Given the description of an element on the screen output the (x, y) to click on. 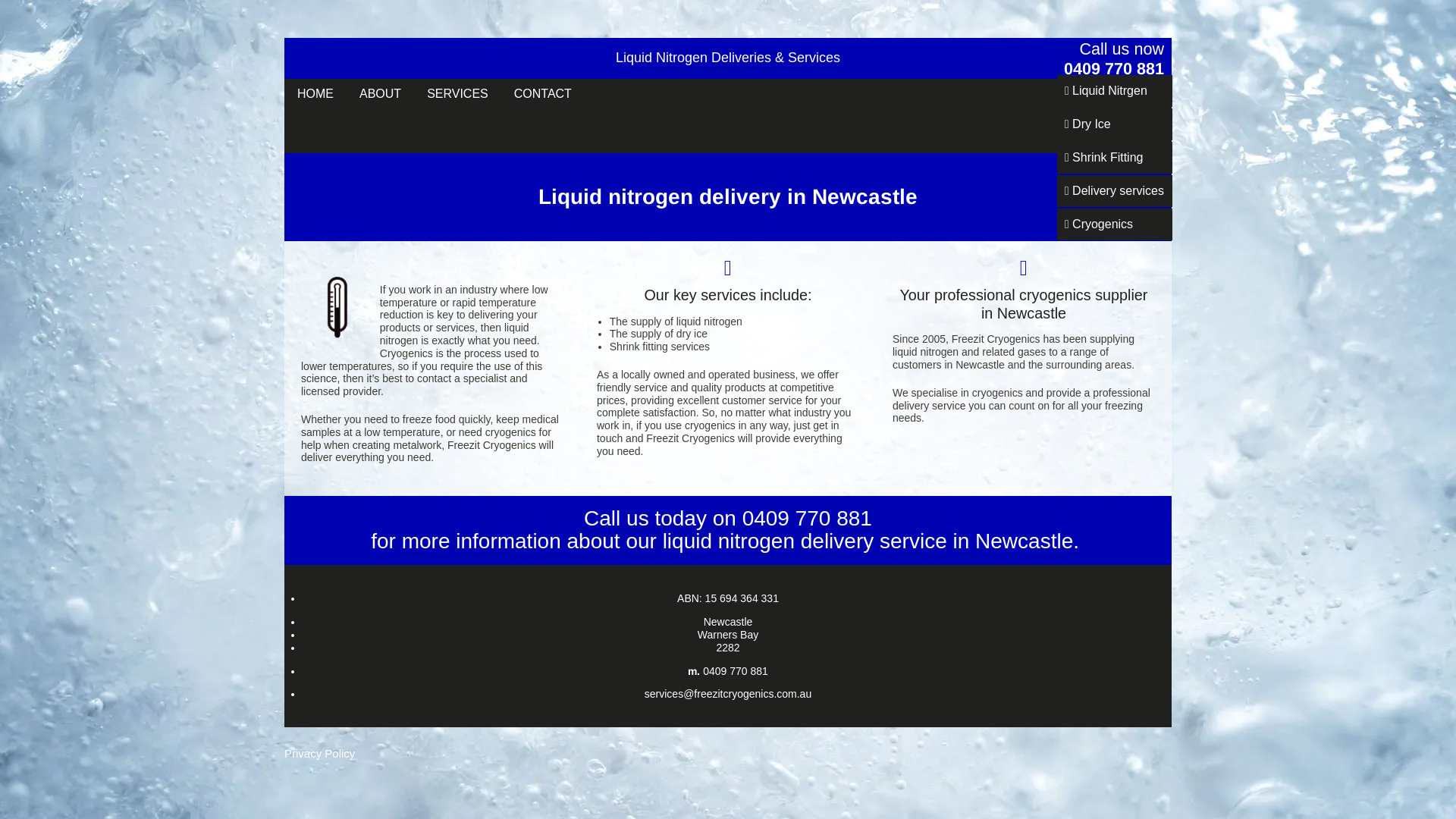
0409 770 881 Element type: text (1113, 68)
services@freezitcryogenics.com.au Element type: text (727, 693)
ABOUT Element type: text (380, 93)
HOME Element type: text (315, 93)
SERVICES Element type: text (457, 93)
0409 770 881 Element type: text (807, 518)
Privacy Policy Element type: text (319, 752)
freezit cryogenics thermometer Element type: hover (336, 307)
0409 770 881 Element type: text (735, 671)
CONTACT Element type: text (542, 93)
